Given the description of an element on the screen output the (x, y) to click on. 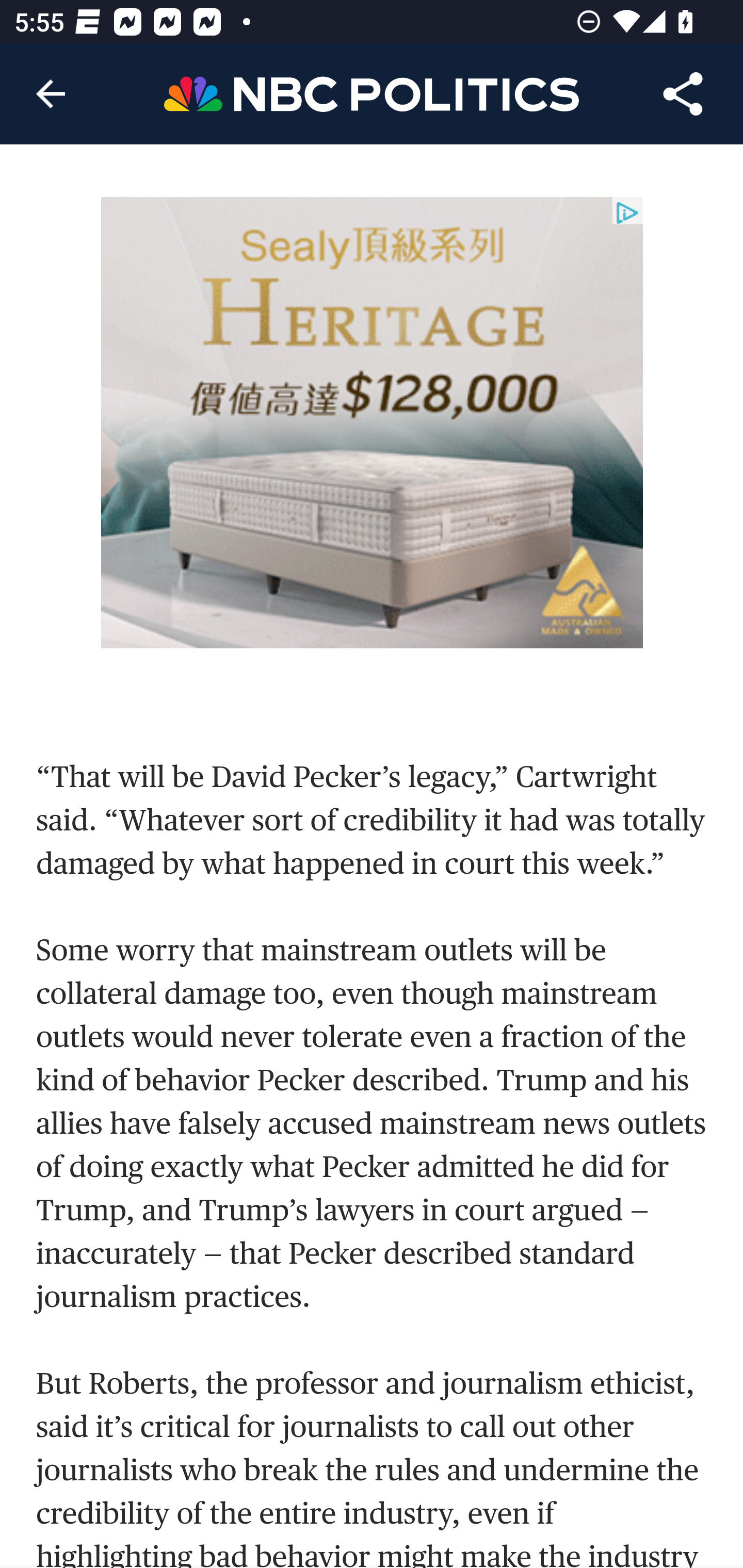
Navigate up (50, 93)
Share Article, button (683, 94)
Header, NBC Politics (371, 93)
icgBeteWSZFMbKXZTb0bmADIM%23300x500 (372, 422)
adchoices (626, 213)
